Given the description of an element on the screen output the (x, y) to click on. 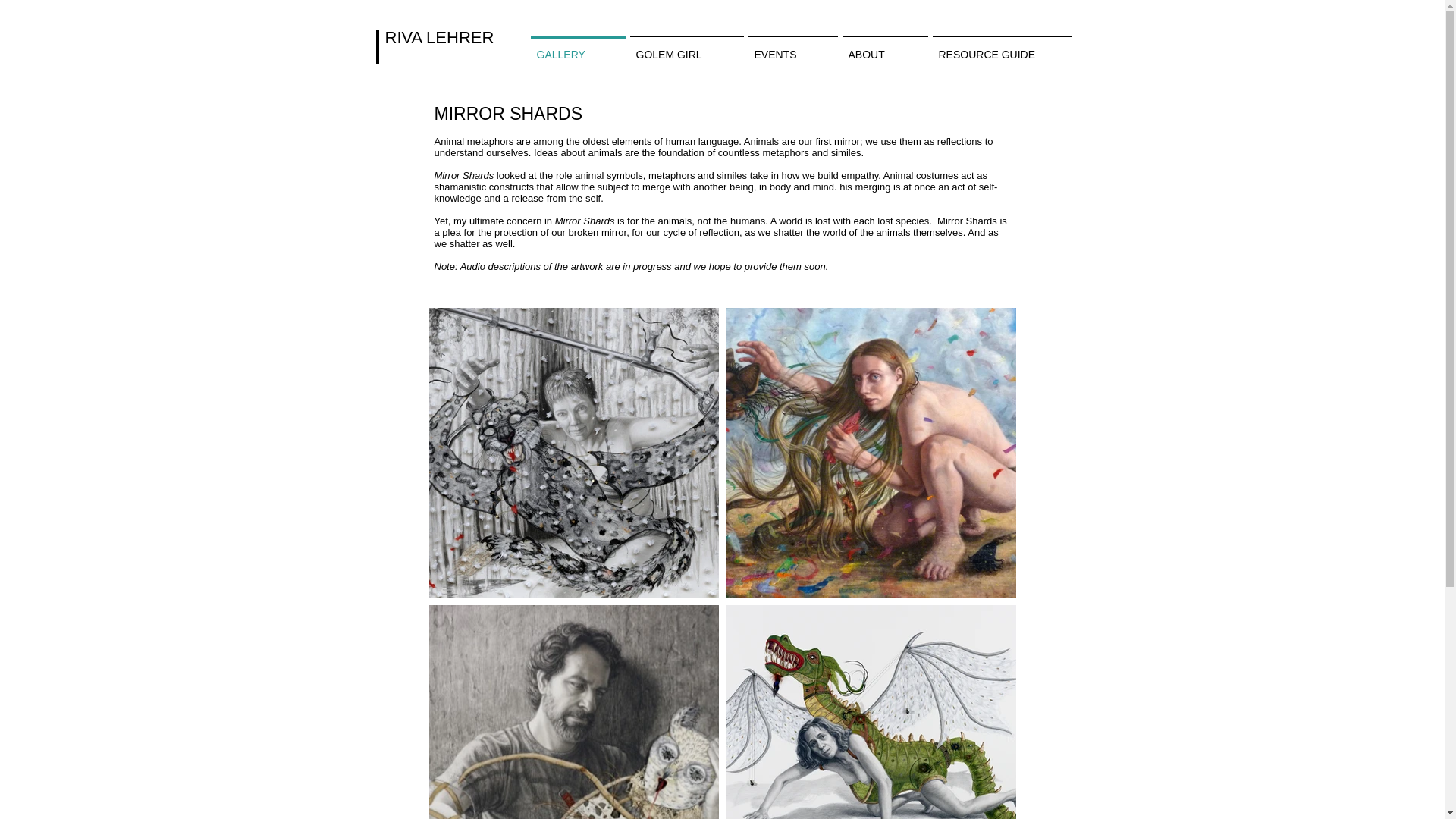
RESOURCE GUIDE (1002, 47)
GOLEM GIRL (686, 47)
RIVA LEHRER (440, 36)
EVENTS (792, 47)
GALLERY (577, 47)
